Given the description of an element on the screen output the (x, y) to click on. 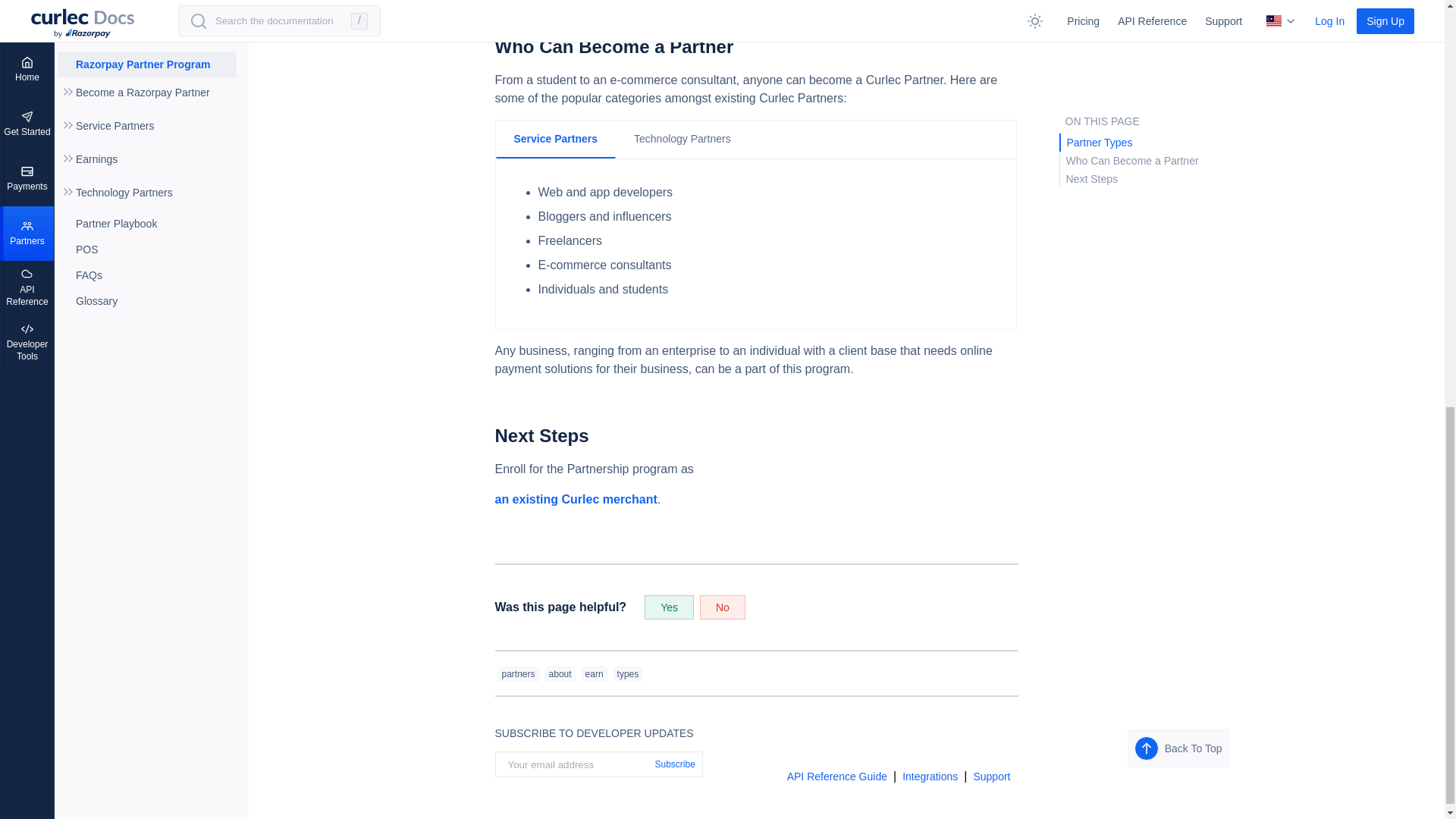
Integrations (932, 776)
Technology Partners (682, 138)
API Reference Guide (840, 776)
No (722, 607)
Subscribe (674, 764)
Service Partners (555, 139)
Next Steps (755, 435)
Yes (669, 607)
Service Partners (755, 240)
Who Can Become a Partner (755, 46)
